Given the description of an element on the screen output the (x, y) to click on. 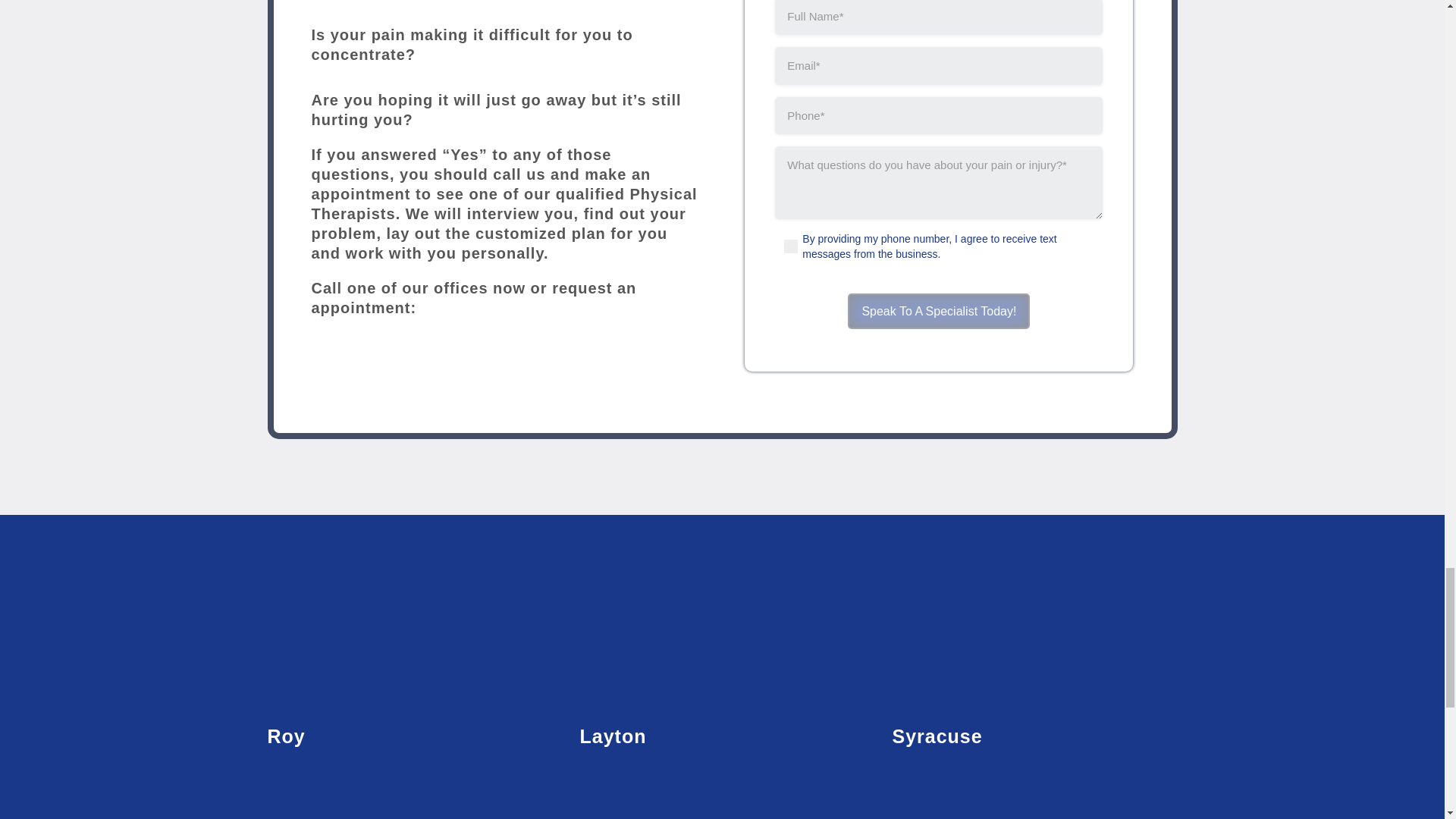
request-arrow (633, 367)
white-logo (722, 607)
Speak To A Specialist Today! (938, 311)
